Given the description of an element on the screen output the (x, y) to click on. 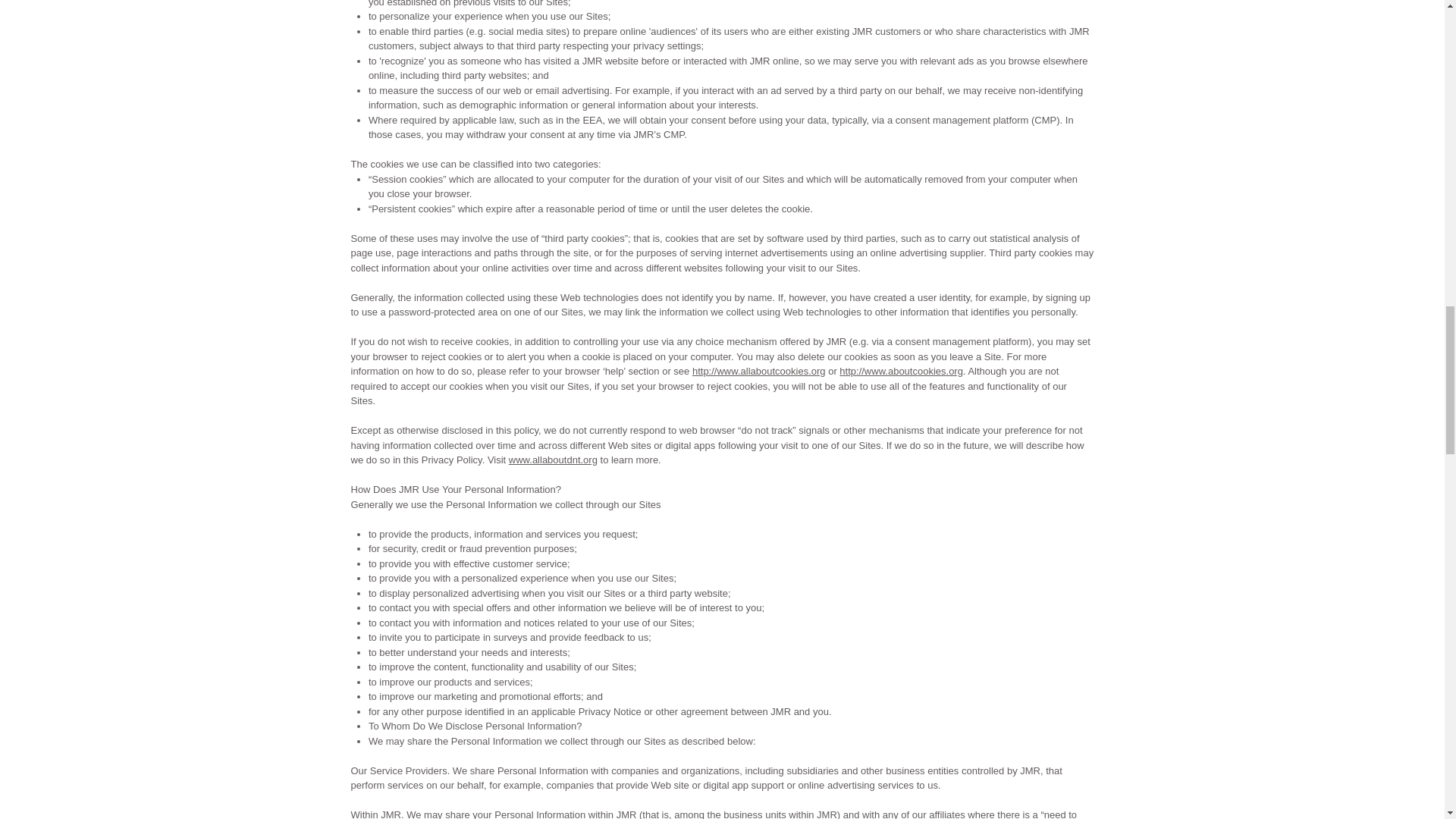
www.allaboutdnt.org (552, 460)
